Given the description of an element on the screen output the (x, y) to click on. 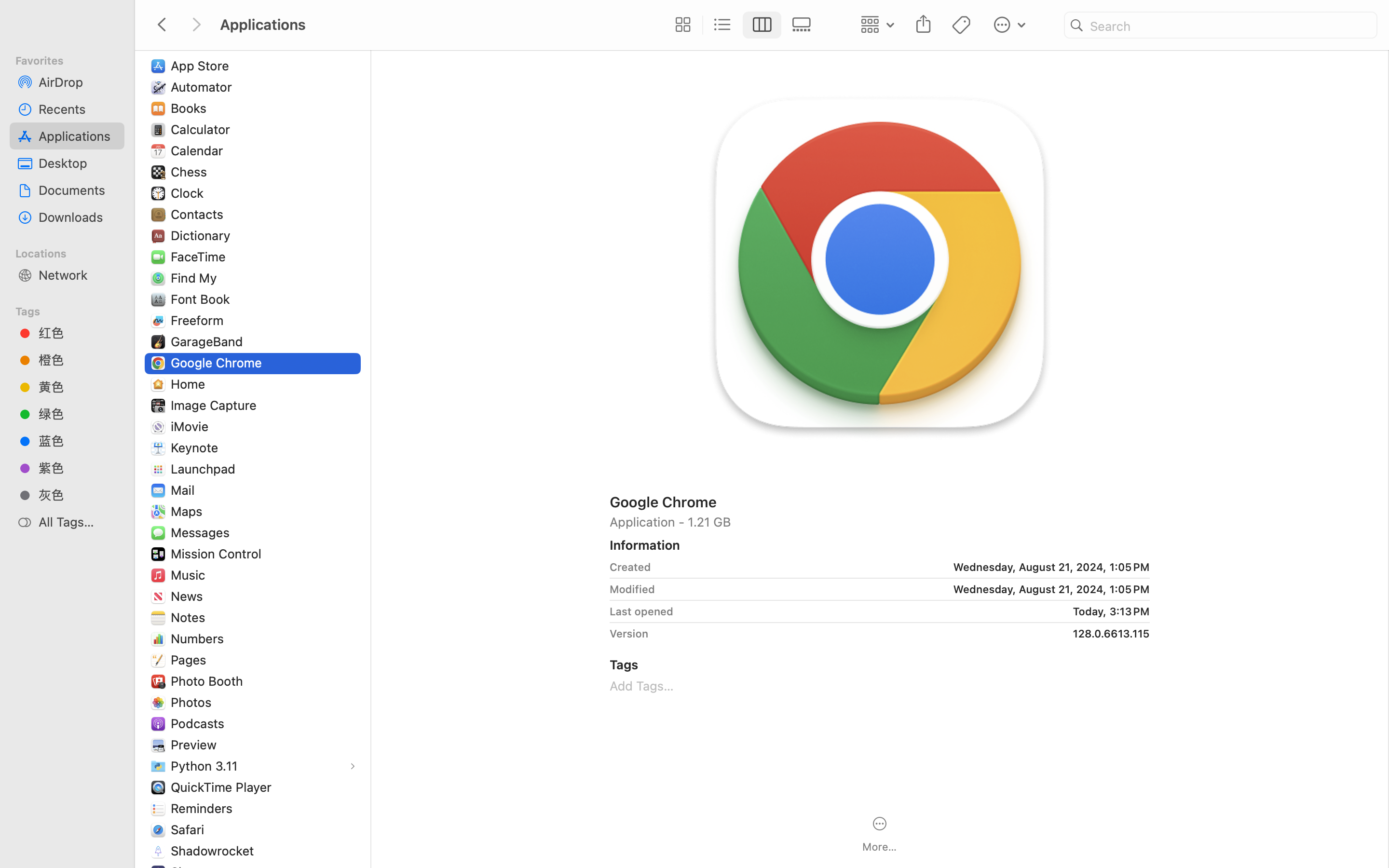
Wednesday, August 21, 2024, 1:05 PM Element type: AXStaticText (903, 566)
Desktop Element type: AXStaticText (77, 162)
黄色 Element type: AXStaticText (77, 386)
GarageBand Element type: AXTextField (208, 341)
Photos Element type: AXTextField (192, 701)
